Given the description of an element on the screen output the (x, y) to click on. 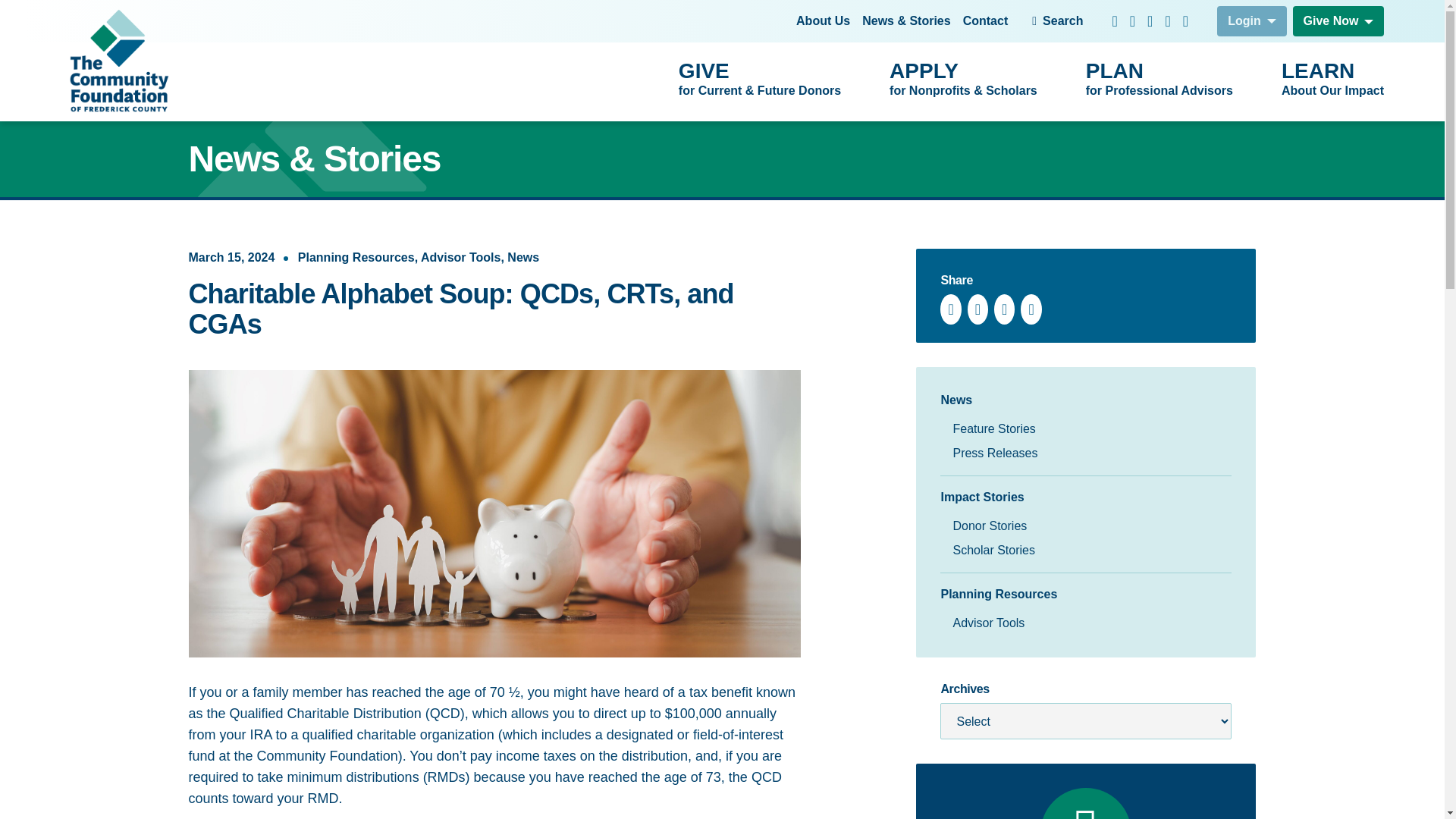
About Us (1159, 79)
Contact (823, 21)
Login (985, 21)
Search (1252, 20)
